Given the description of an element on the screen output the (x, y) to click on. 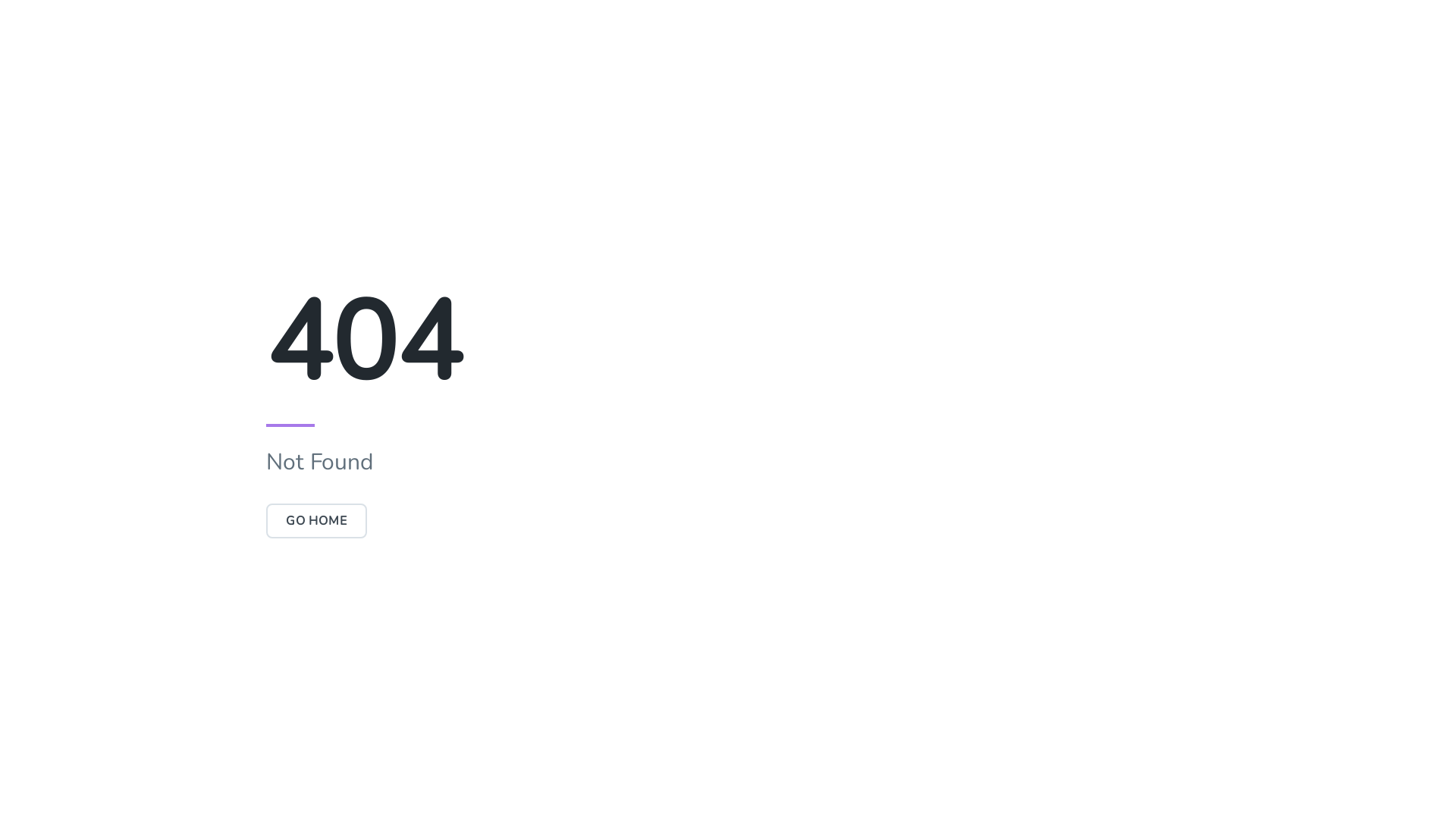
GO HOME Element type: text (316, 520)
GO HOME Element type: text (316, 520)
